Given the description of an element on the screen output the (x, y) to click on. 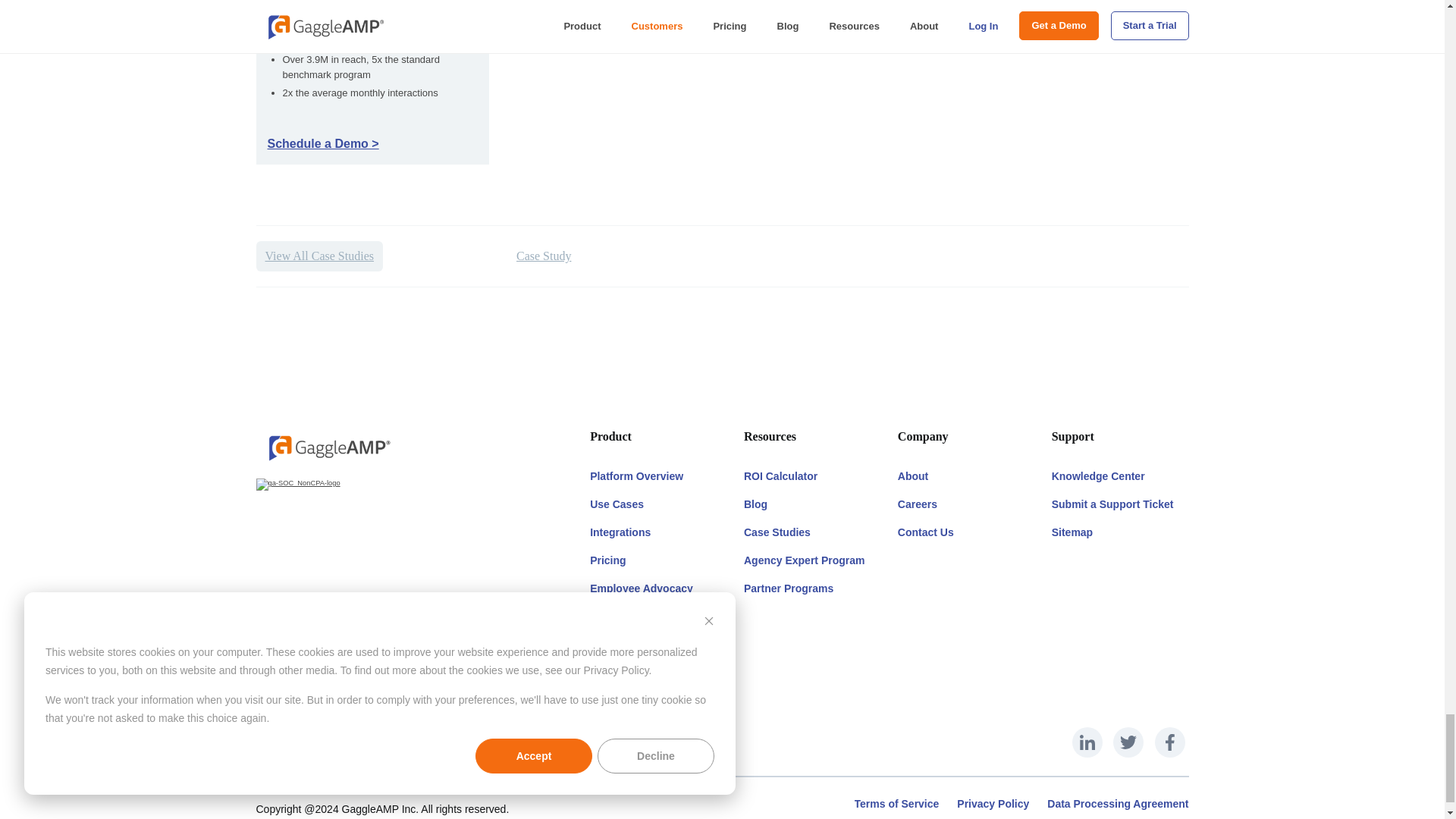
View All Case Studies (319, 255)
GaggleAMP Logo (327, 446)
HubSpot Video (854, 58)
Case Study (543, 255)
